Given the description of an element on the screen output the (x, y) to click on. 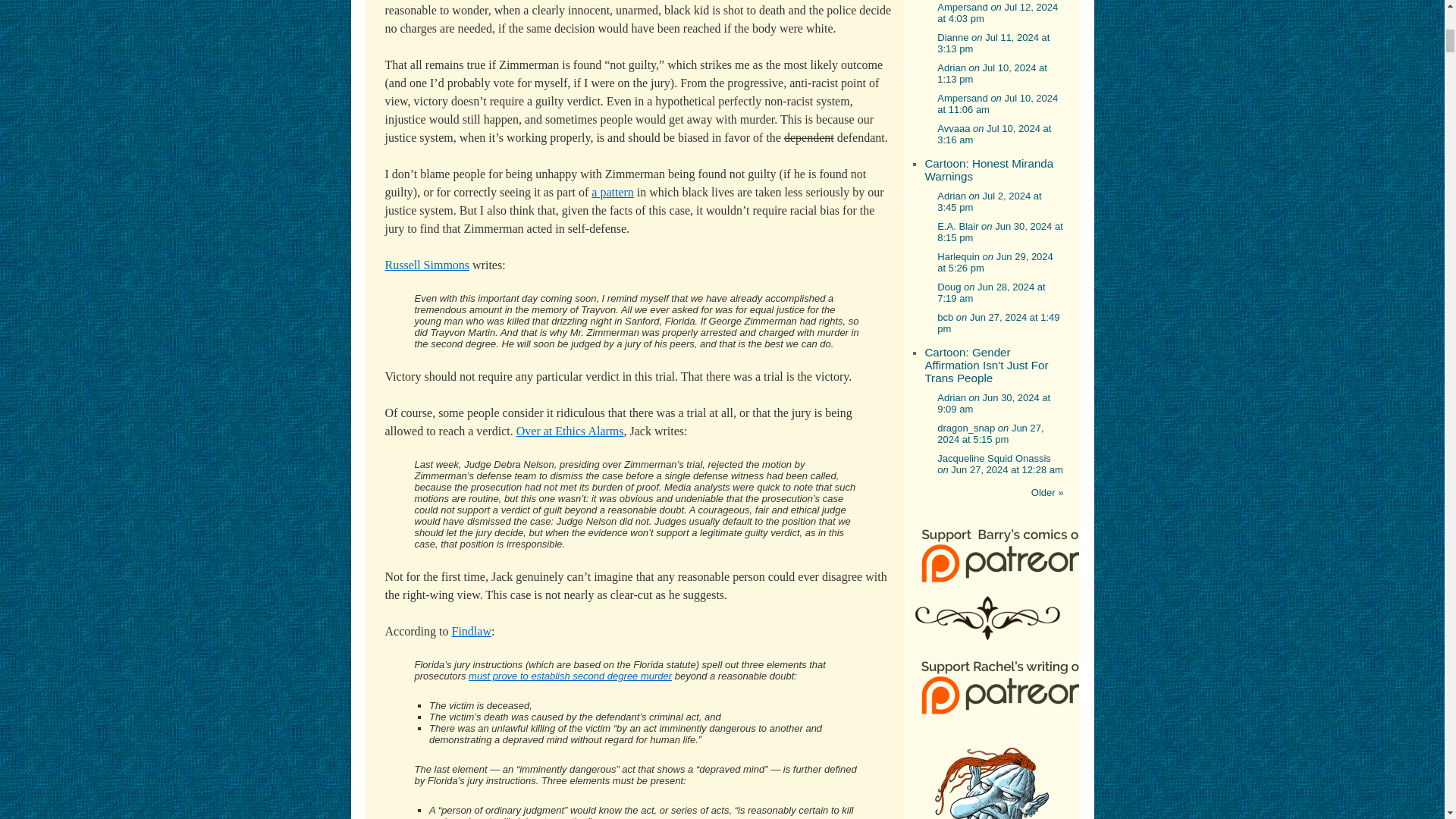
Findlaw (470, 631)
must prove to establish second degree murder (569, 675)
Russell Simmons (427, 264)
a pattern (612, 192)
Over at Ethics Alarms (570, 431)
